Given the description of an element on the screen output the (x, y) to click on. 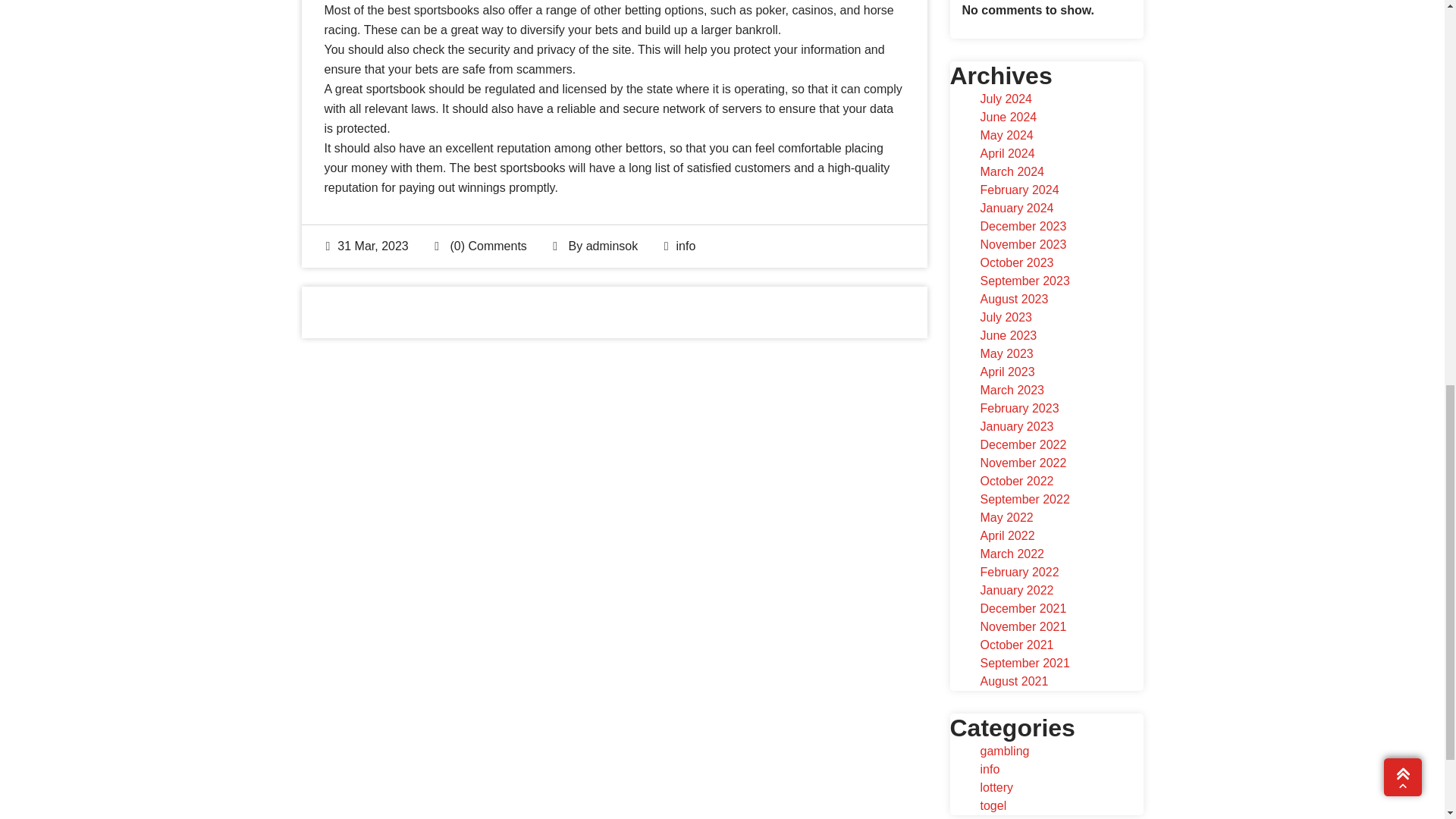
November 2023 (1022, 244)
July 2023 (1005, 317)
adminsok (611, 245)
info (685, 245)
January 2024 (1015, 207)
June 2023 (1007, 335)
April 2024 (1006, 153)
June 2024 (1007, 116)
October 2023 (1015, 262)
March 2024 (1011, 171)
July 2024 (1005, 98)
December 2022 (1022, 444)
September 2023 (1023, 280)
May 2023 (1005, 353)
December 2023 (1022, 226)
